Given the description of an element on the screen output the (x, y) to click on. 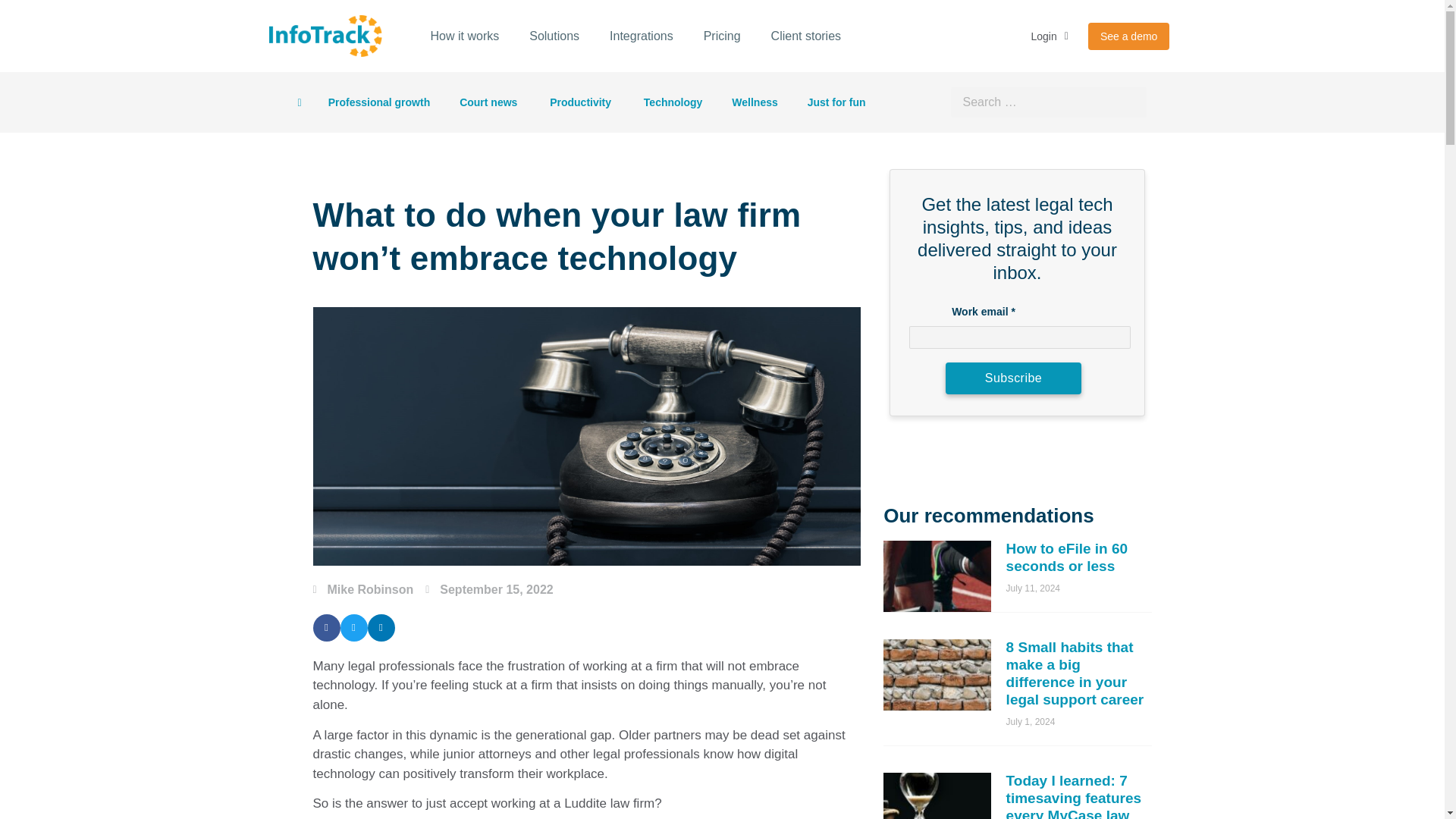
Client stories (805, 36)
Court news  (489, 102)
Just for fun (837, 102)
Wellness (754, 102)
Solutions (553, 36)
Mike Robinson (363, 589)
Login (1049, 35)
 Productivity  (580, 102)
Pricing (721, 36)
See a demo (1128, 35)
How to eFile in 60 seconds or less (1066, 557)
Technology (673, 102)
Professional growth (379, 102)
Integrations (641, 36)
How it works (464, 36)
